Given the description of an element on the screen output the (x, y) to click on. 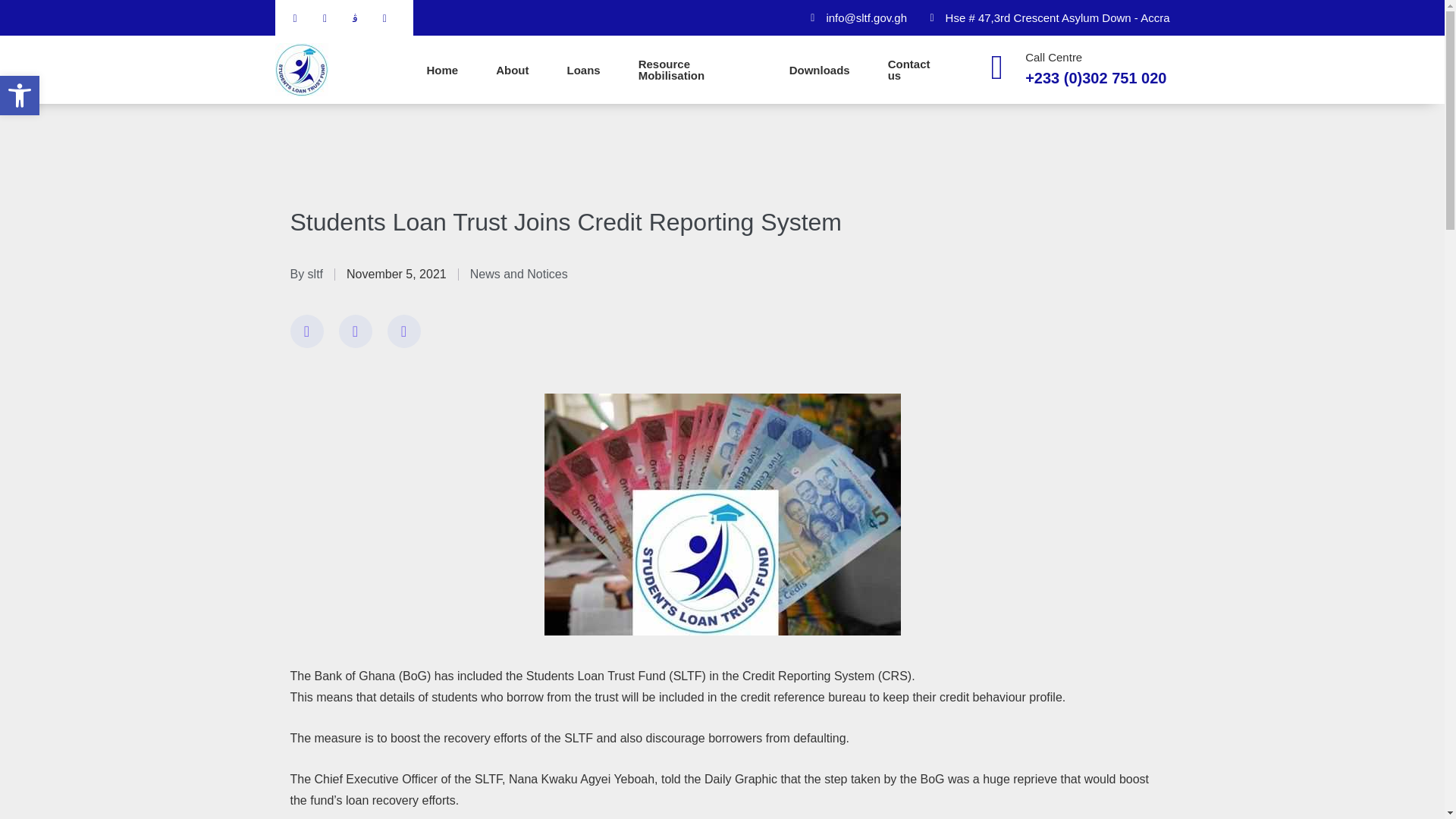
Resource Mobilisation (695, 70)
Loans (582, 70)
Home (442, 70)
About (512, 70)
sltf-logo (301, 69)
By sltf (19, 95)
News and Notices (306, 273)
Accessibility Tools (518, 273)
Accessibility Tools (19, 95)
Contact us (19, 95)
Downloads (914, 70)
